Given the description of an element on the screen output the (x, y) to click on. 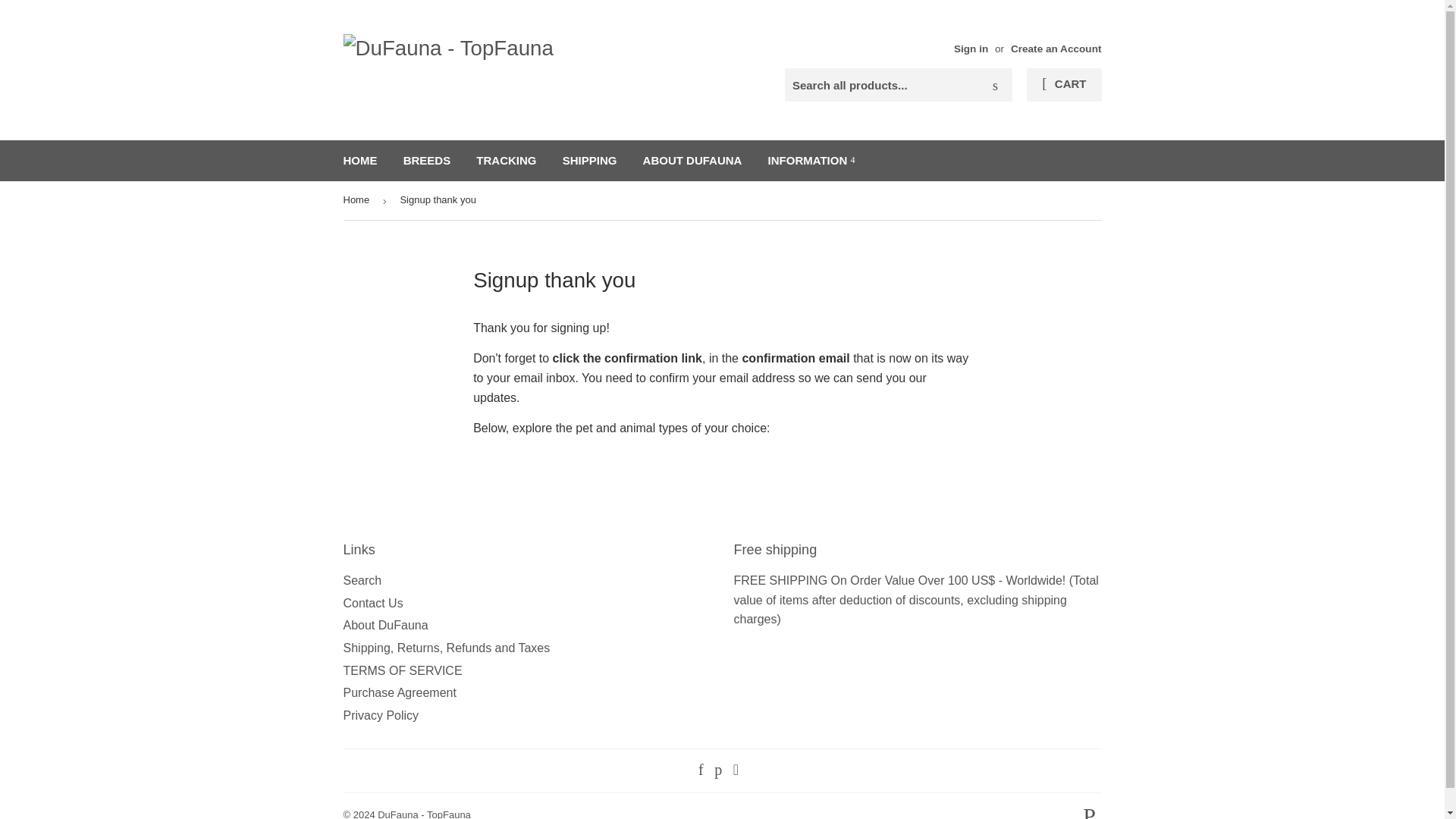
About DuFauna (385, 625)
Privacy Policy (380, 715)
SHIPPING (589, 160)
Sign in (970, 48)
BREEDS (427, 160)
TERMS OF SERVICE (401, 670)
Search (994, 85)
Contact Us (372, 603)
Shipping, Returns, Refunds and Taxes (446, 647)
Purchase Agreement (398, 692)
Create an Account (1056, 48)
HOME (359, 160)
Search (361, 580)
ABOUT DUFAUNA (692, 160)
INFORMATION (811, 160)
